Given the description of an element on the screen output the (x, y) to click on. 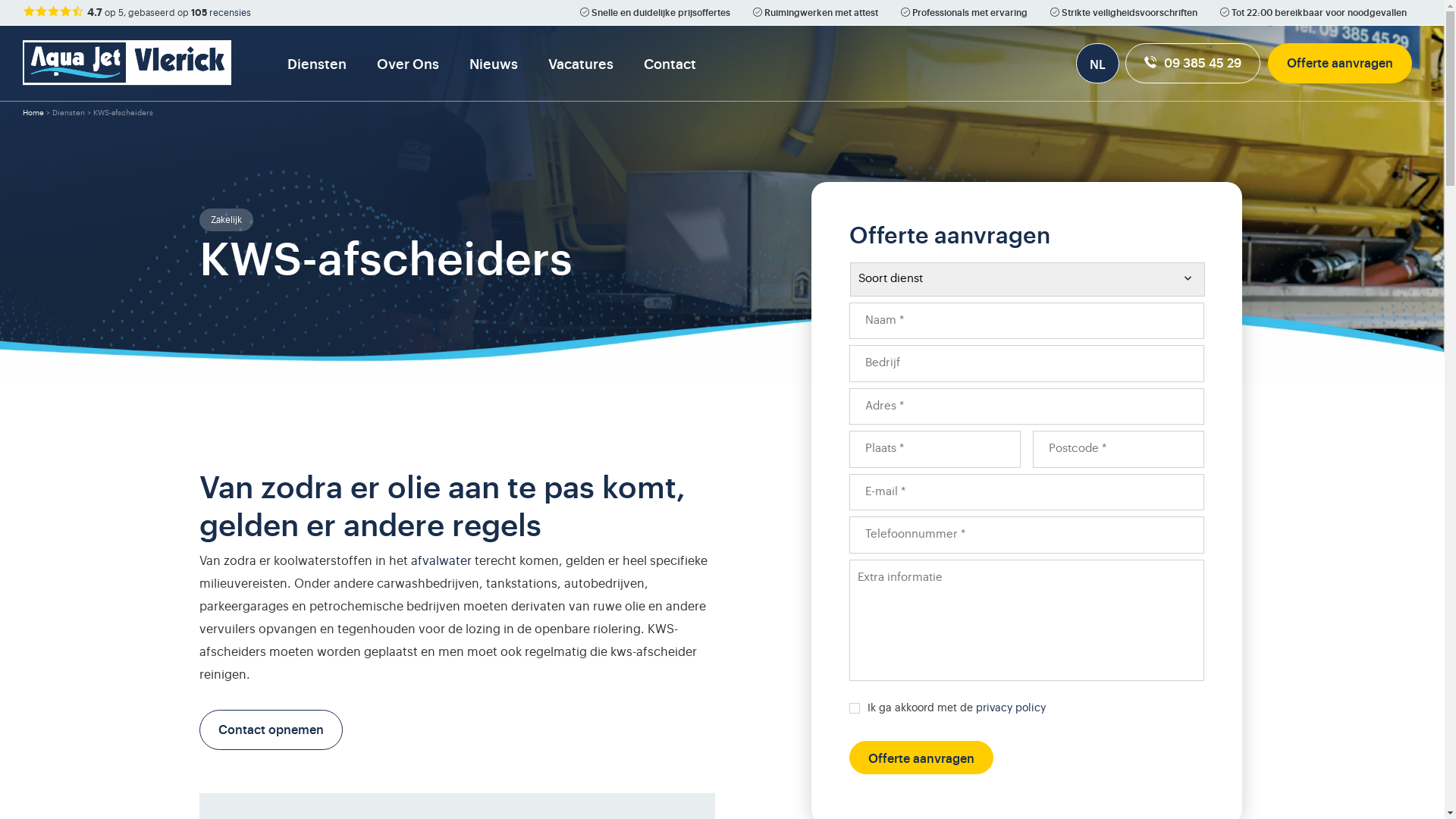
Over Ons Element type: text (407, 62)
Diensten Element type: text (316, 62)
105 recensies Element type: text (221, 11)
Offerte aanvragen Element type: text (1339, 62)
Contact opnemen Element type: text (270, 729)
Offerte aanvragen Element type: text (921, 756)
Vacatures Element type: text (580, 62)
afvalwater Element type: text (441, 561)
Contact Element type: text (669, 62)
privacy policy Element type: text (1010, 707)
Diensten Element type: text (68, 112)
Home Element type: text (32, 112)
09 385 45 29 Element type: text (1192, 62)
NL Element type: text (1097, 62)
Nieuws Element type: text (493, 62)
